Given the description of an element on the screen output the (x, y) to click on. 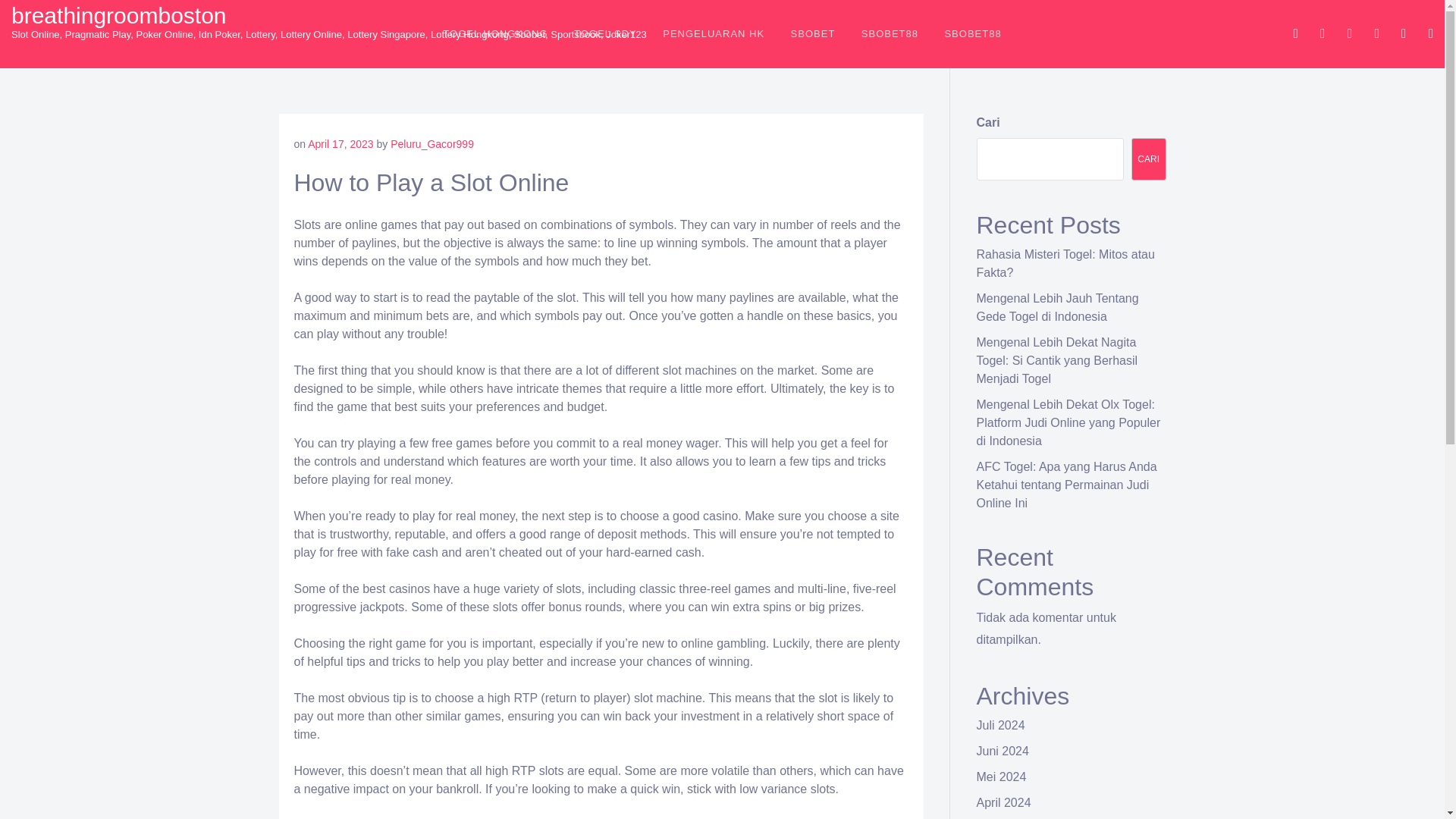
Juli 2024 (1000, 725)
TOGEL SDY (604, 33)
SBOBET88 (972, 33)
April 17, 2023 (339, 143)
breathingroomboston (119, 15)
Mengenal Lebih Jauh Tentang Gede Togel di Indonesia (1057, 306)
Juni 2024 (1002, 750)
TOGEL HONGKONG (494, 33)
PENGELUARAN HK (713, 33)
Rahasia Misteri Togel: Mitos atau Fakta? (1065, 263)
SBOBET (812, 33)
SBOBET88 (890, 33)
